Given the description of an element on the screen output the (x, y) to click on. 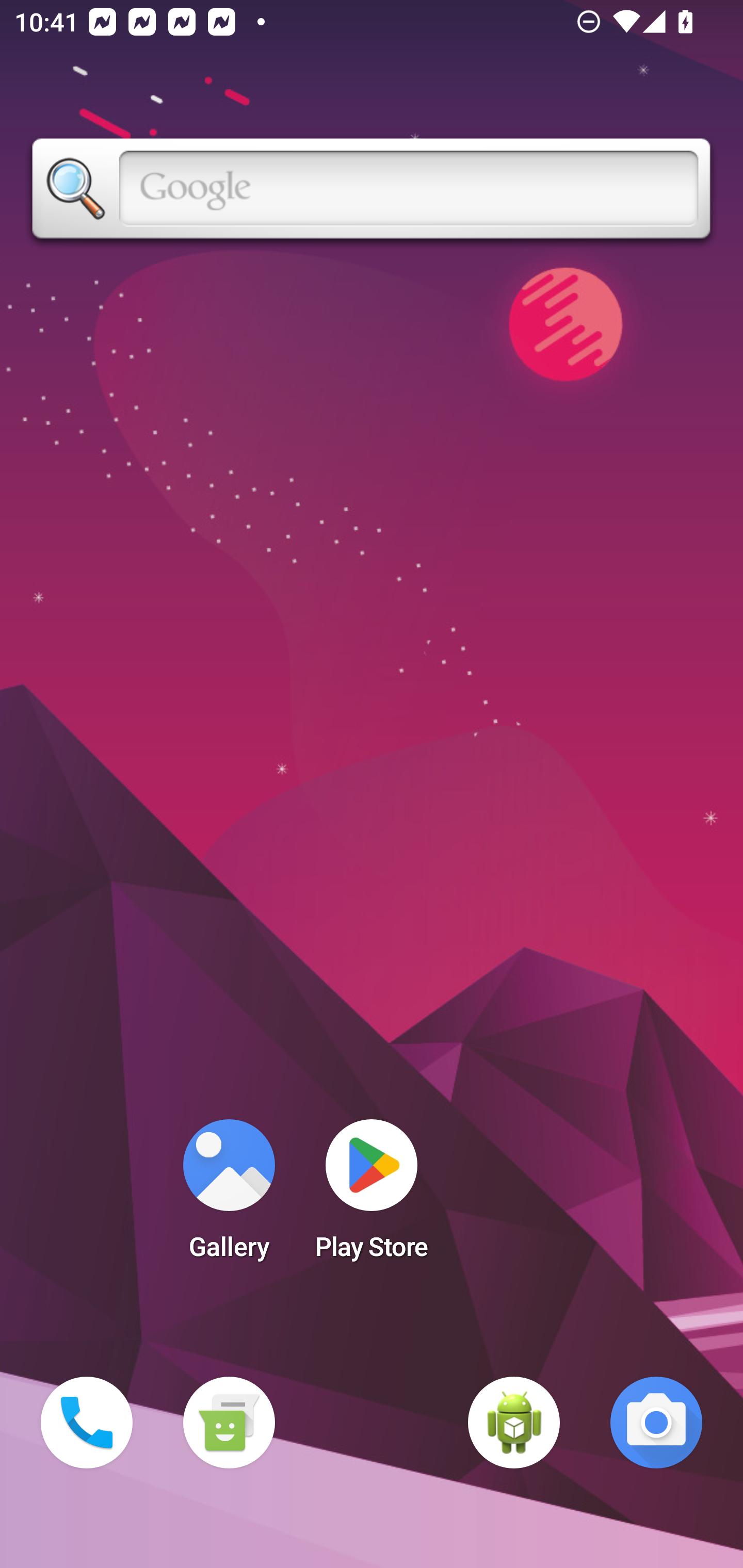
Gallery (228, 1195)
Play Store (371, 1195)
Phone (86, 1422)
Messaging (228, 1422)
WebView Browser Tester (513, 1422)
Camera (656, 1422)
